Given the description of an element on the screen output the (x, y) to click on. 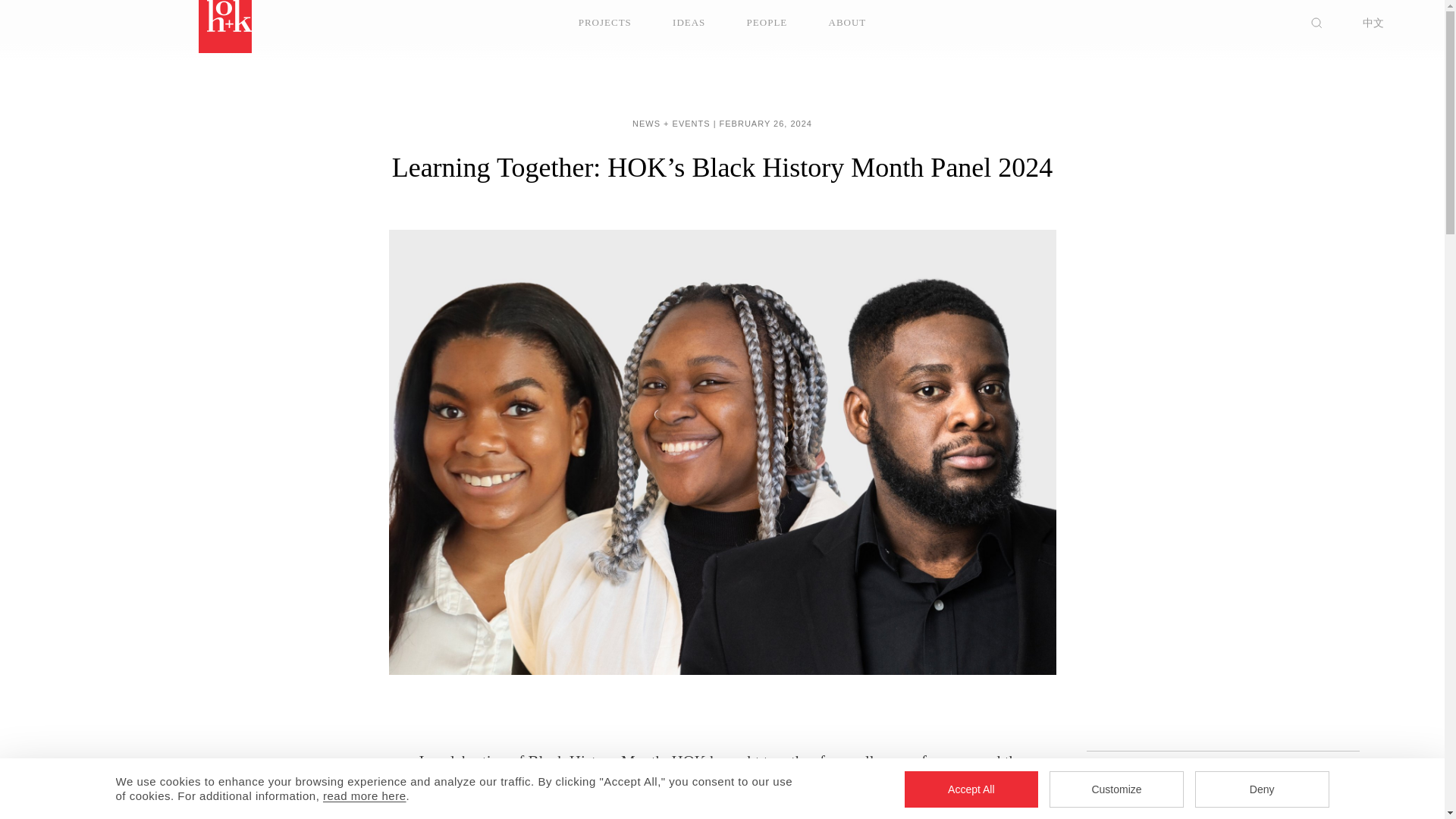
Accept All (971, 789)
Deny (1262, 789)
read more here (364, 795)
Privacy Policy (364, 795)
Customize (1116, 789)
